Given the description of an element on the screen output the (x, y) to click on. 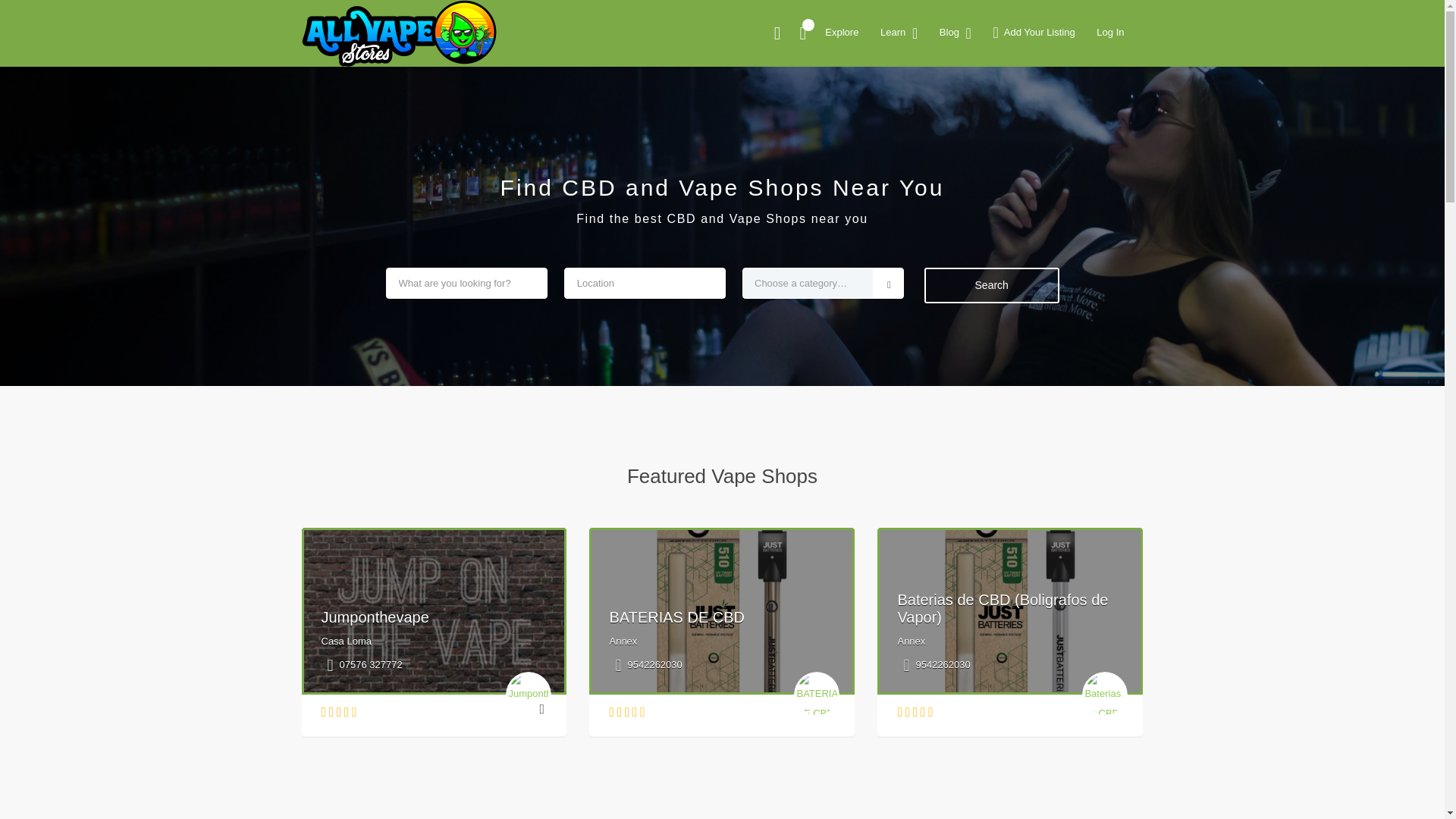
Search (1050, 85)
Log in (980, 588)
ADMINISTRATOR (417, 118)
ONEDAY247.COM (385, 28)
Terms of Use (996, 330)
RSS (977, 612)
Blog (976, 510)
Skip to content (34, 9)
Search (1050, 85)
Contact Us (991, 258)
Latest Article (996, 172)
Search (1050, 85)
Disclaimer (990, 354)
DMCA Policy (996, 282)
Search for: (1049, 47)
